Given the description of an element on the screen output the (x, y) to click on. 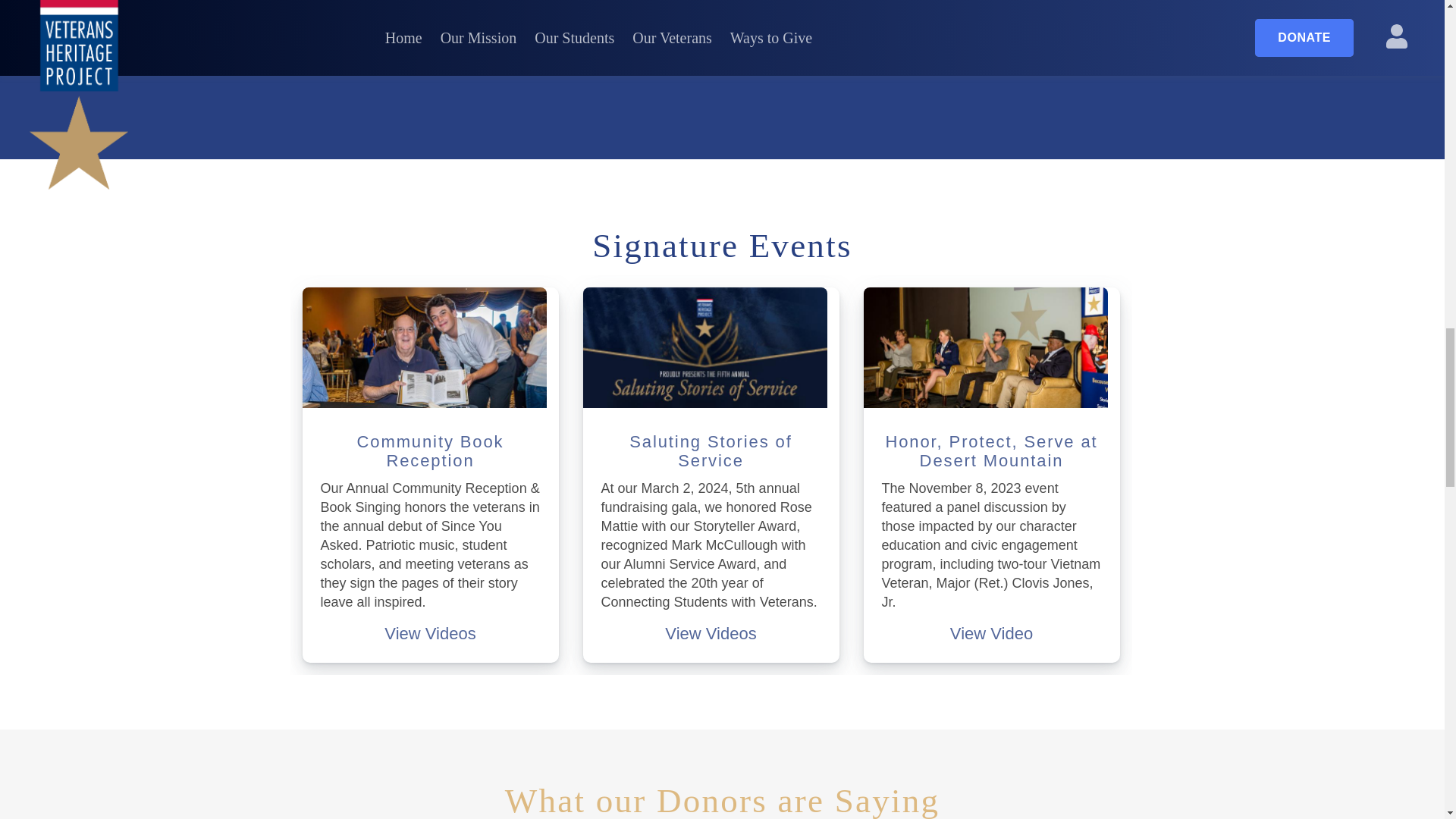
DONATE (433, 55)
LEARN MORE (721, 55)
View Videos (710, 633)
View Videos (430, 633)
LEARN MORE (1009, 55)
View Video (991, 633)
